Given the description of an element on the screen output the (x, y) to click on. 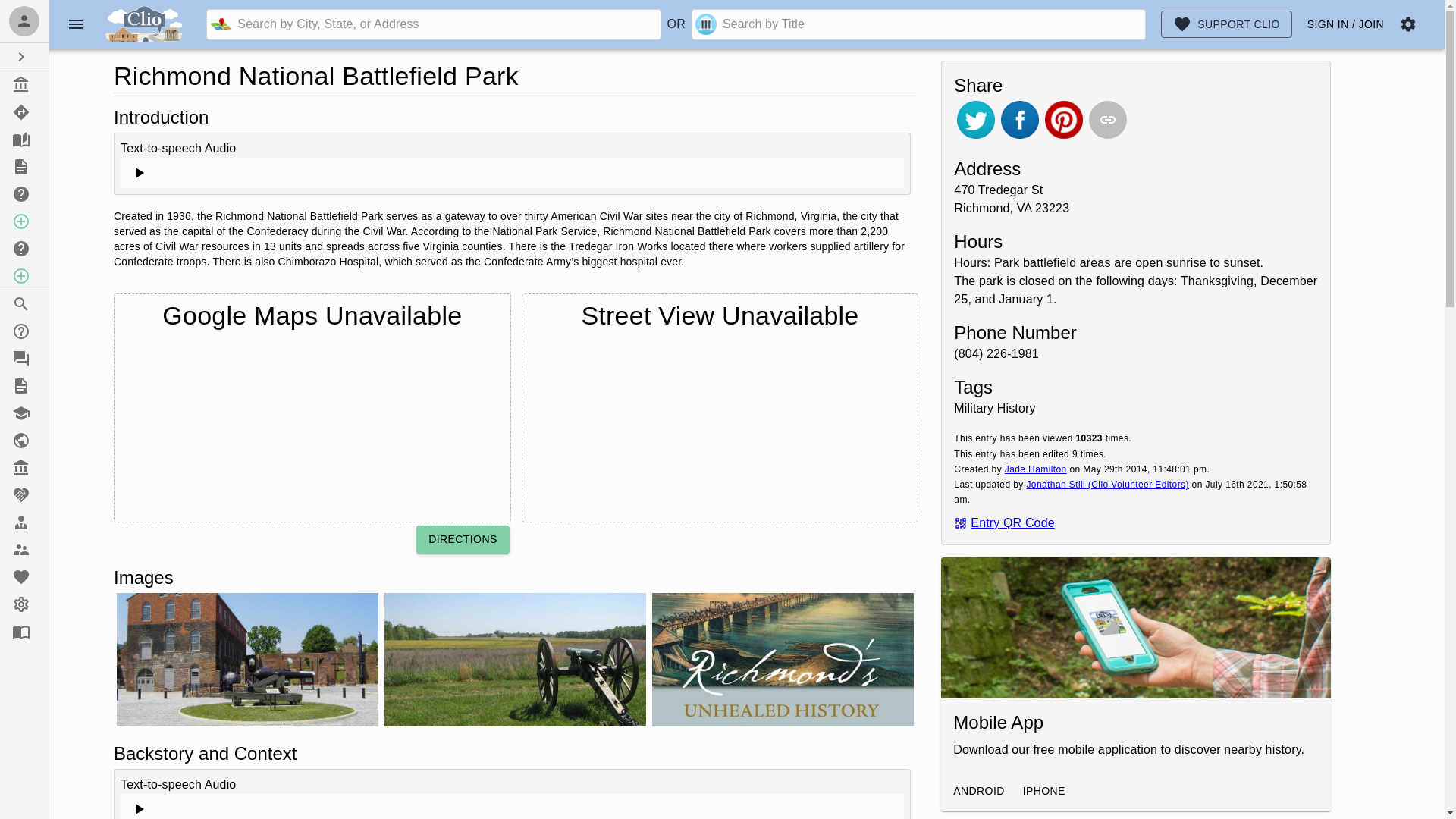
Supporters (24, 549)
Individual Entries (24, 84)
Login (24, 21)
Create a New Tour (24, 275)
Grant Resources (24, 494)
Guides, Videos, and Rubrics (24, 166)
Tours (24, 112)
FAQs (24, 358)
How to Create a Tour (24, 248)
Create a New Entry (24, 221)
DIRECTIONS (462, 539)
Clio for Historic Preservation (24, 440)
Clio in the Classroom (24, 412)
SUPPORT CLIO (1226, 24)
Guides, Videos, and Rubrics (24, 385)
